Given the description of an element on the screen output the (x, y) to click on. 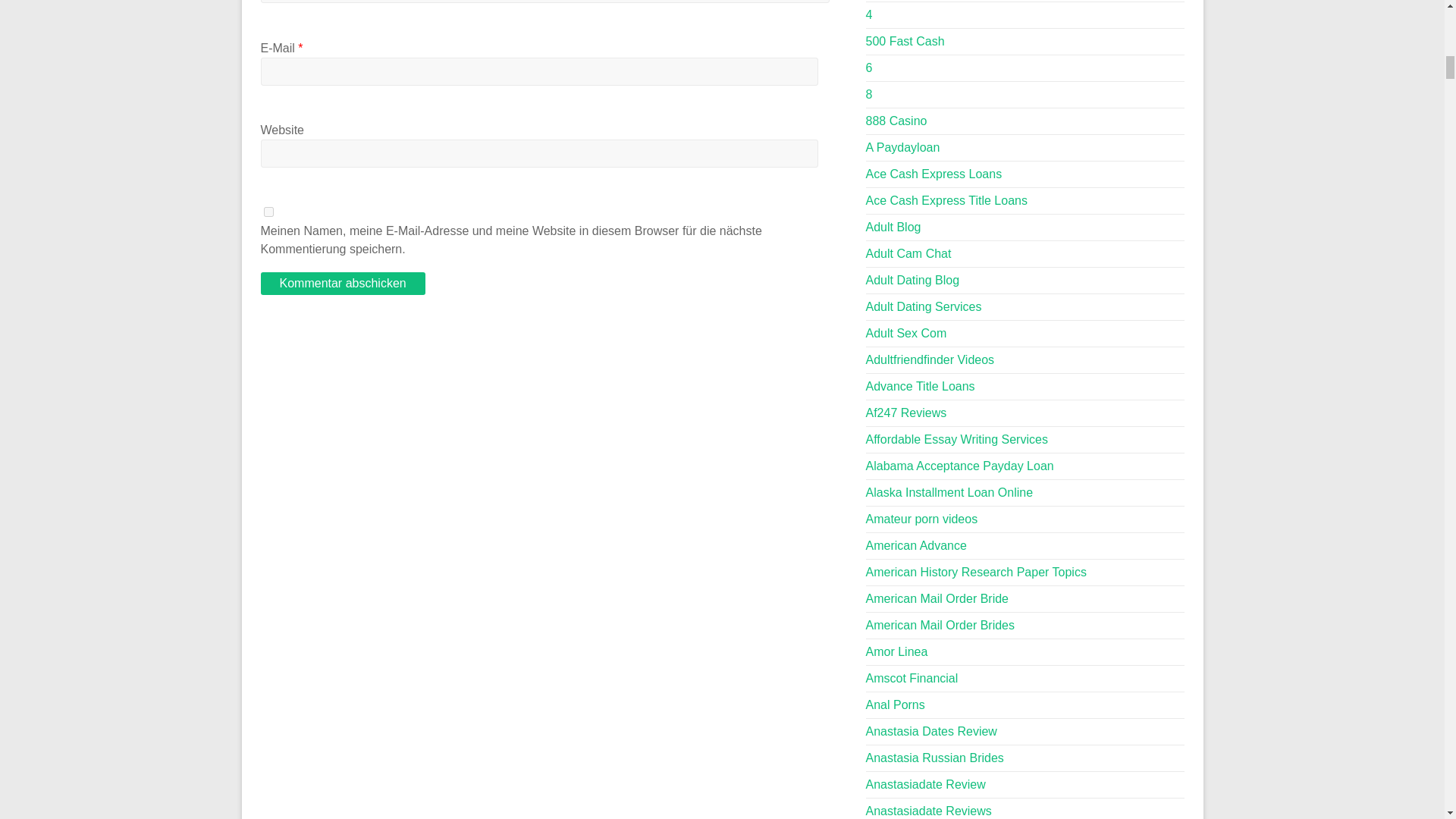
Kommentar abschicken (342, 282)
Kommentar abschicken (342, 282)
yes (268, 212)
